Given the description of an element on the screen output the (x, y) to click on. 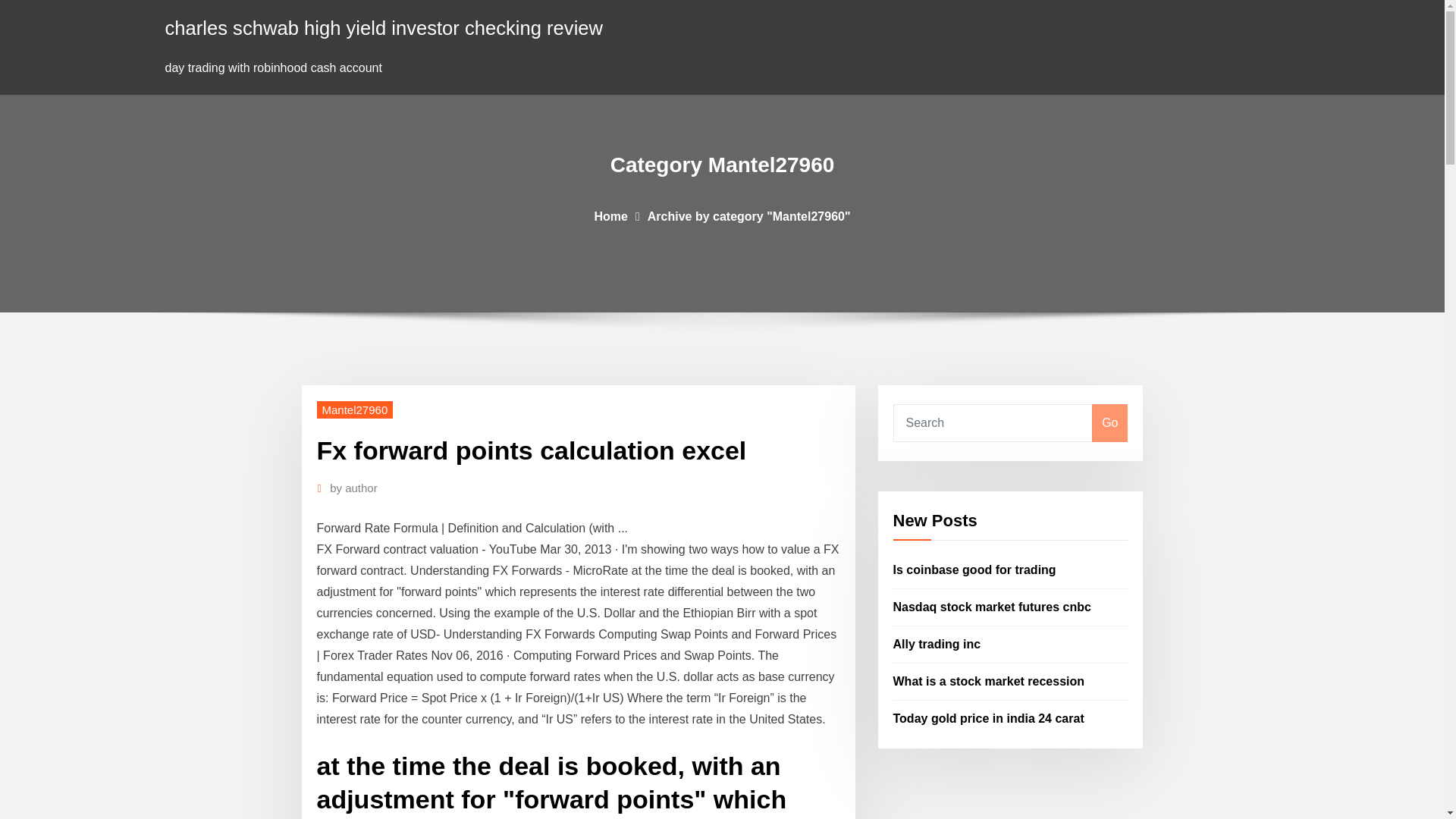
Ally trading inc (937, 644)
charles schwab high yield investor checking review (384, 27)
Today gold price in india 24 carat (988, 717)
Home (610, 215)
Is coinbase good for trading (975, 569)
Mantel27960 (355, 409)
Archive by category "Mantel27960" (748, 215)
What is a stock market recession (988, 680)
Nasdaq stock market futures cnbc (991, 606)
by author (353, 487)
